Given the description of an element on the screen output the (x, y) to click on. 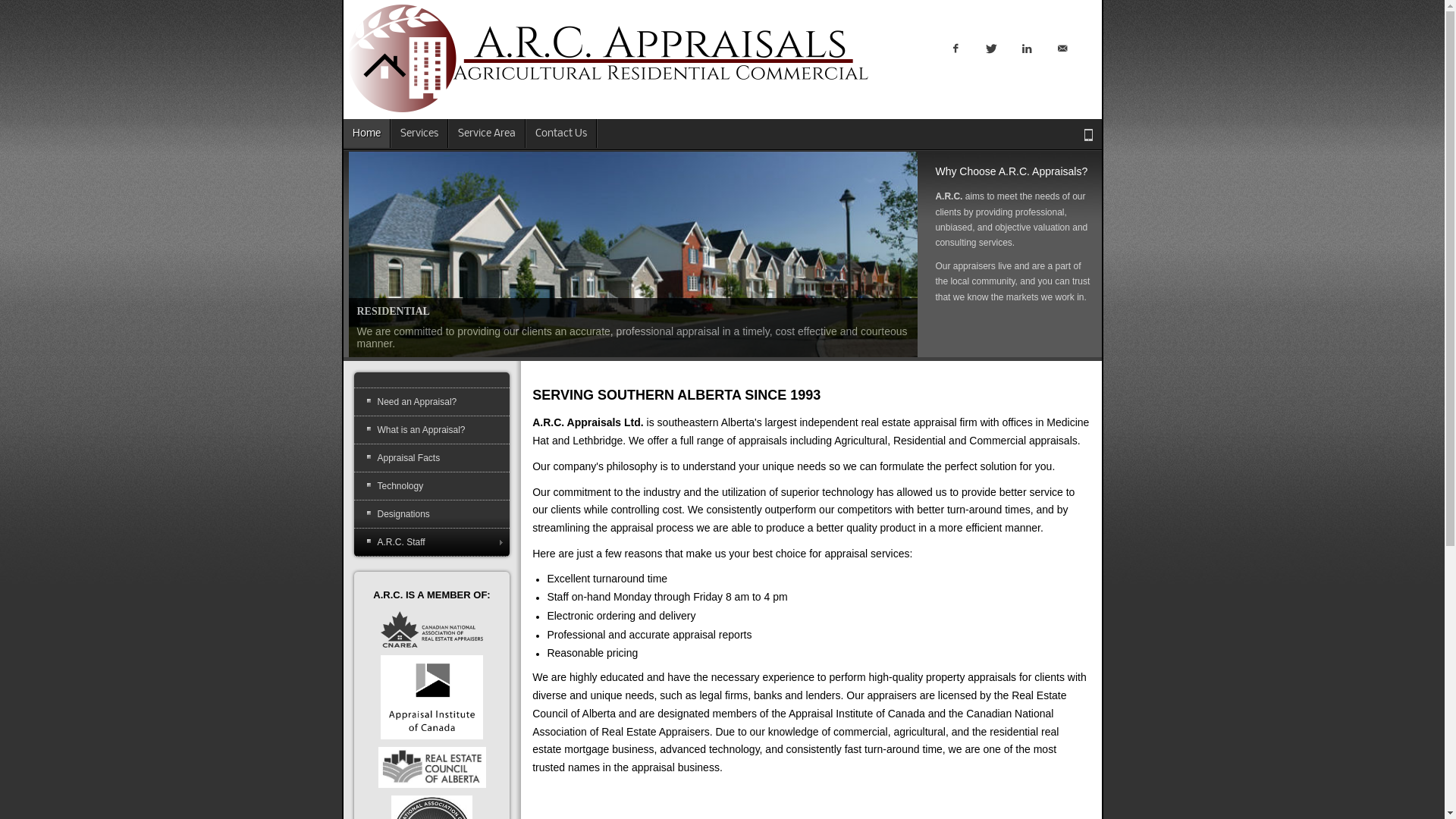
RESIDENTIAL Element type: hover (632, 254)
Designations Element type: text (431, 513)
Service Area Element type: text (486, 133)
Services Element type: text (419, 133)
Need an Appraisal? Element type: text (431, 401)
Home Element type: text (365, 133)
Appraisal Facts Element type: text (431, 457)
Technology Element type: text (431, 485)
A.R.C. Appraisals Ltd. Element type: hover (607, 59)
What is an Appraisal? Element type: text (431, 429)
A.R.C. Staff Element type: text (431, 541)
Contact Us Element type: text (561, 133)
